Given the description of an element on the screen output the (x, y) to click on. 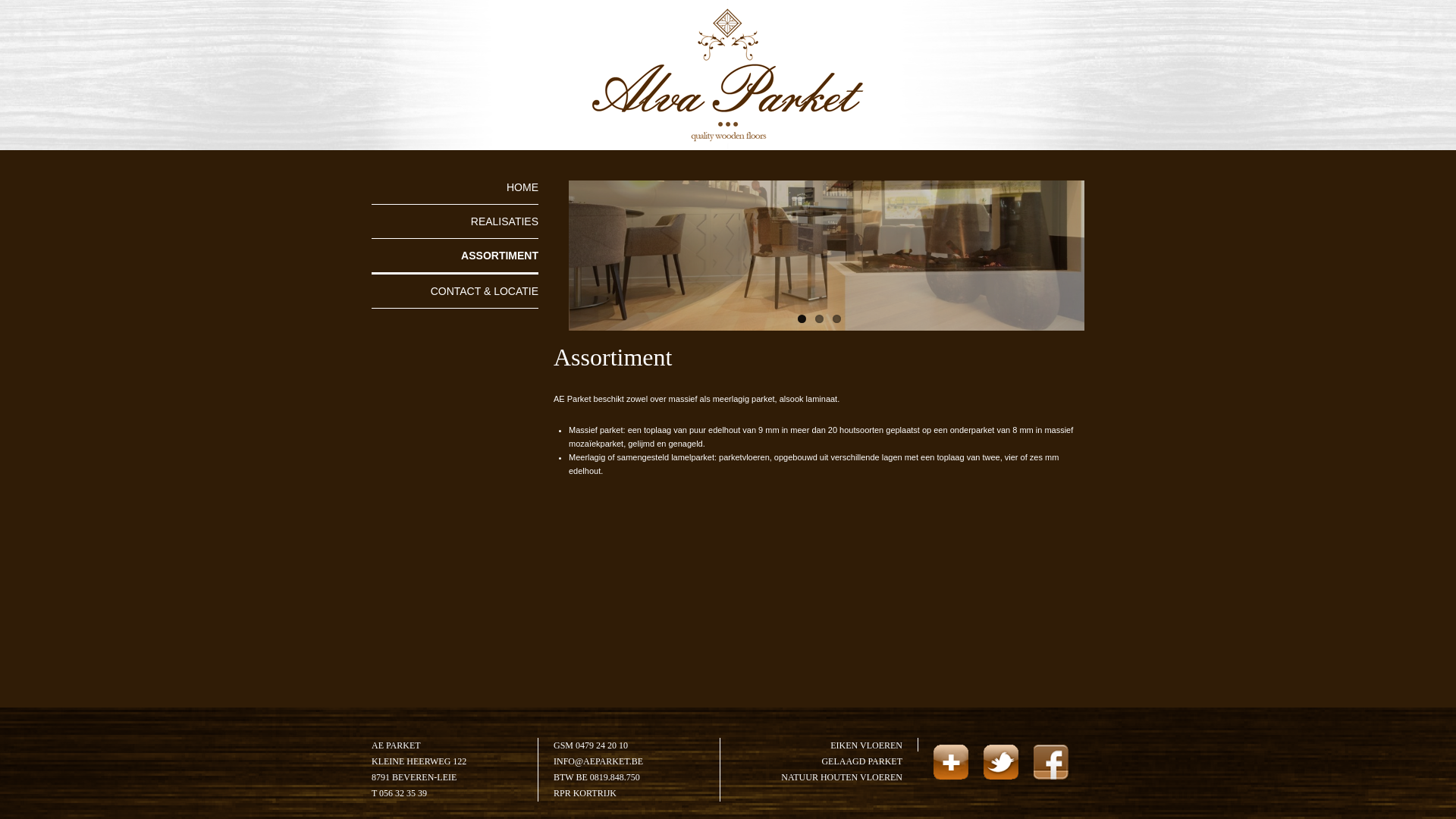
CONTACT & LOCATIE Element type: text (454, 291)
1 Element type: text (801, 318)
ASSORTIMENT Element type: text (454, 256)
HOME Element type: text (454, 192)
INFO@AEPARKET.BE Element type: text (598, 761)
REALISATIES Element type: text (454, 221)
3 Element type: text (836, 318)
2 Element type: text (818, 318)
